Given the description of an element on the screen output the (x, y) to click on. 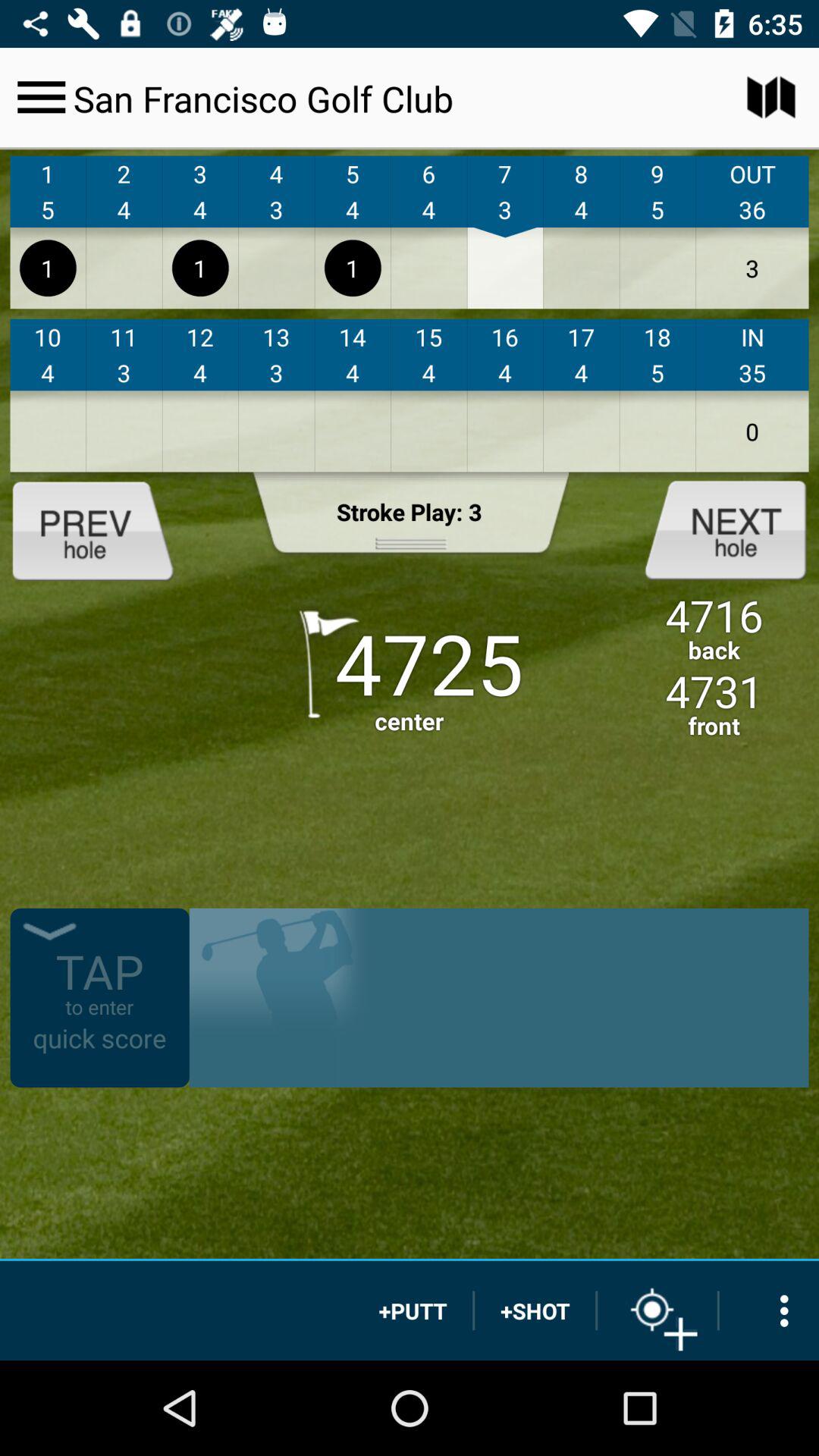
settings (769, 1310)
